Given the description of an element on the screen output the (x, y) to click on. 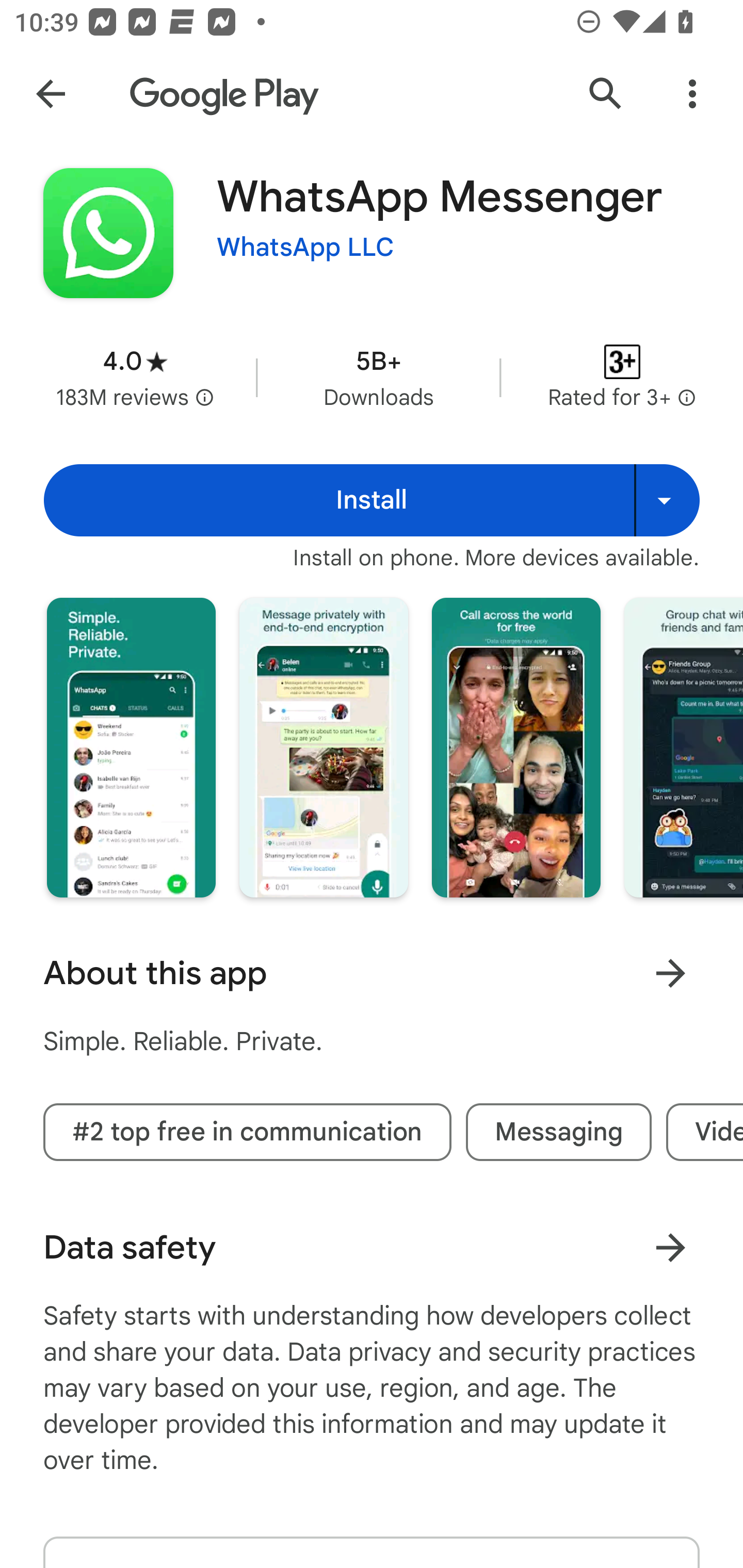
Navigate up (50, 93)
Search Google Play (605, 93)
More Options (692, 93)
WhatsApp LLC (305, 247)
Average rating 4.0 stars in 183 million reviews (135, 377)
Content rating Rated for 3+ (622, 377)
Install Install Install on more devices (371, 500)
Install on more devices (667, 500)
Screenshot "1" of "5" (130, 746)
Screenshot "2" of "5" (323, 746)
Screenshot "3" of "5" (515, 746)
Screenshot "4" of "5" (683, 746)
About this app Learn more About this app (371, 972)
Learn more About this app (670, 972)
#2 top free in communication tag (247, 1132)
Messaging tag (558, 1132)
Video chat tag (704, 1132)
Data safety Learn more about data safety (371, 1247)
Learn more about data safety (670, 1247)
